Given the description of an element on the screen output the (x, y) to click on. 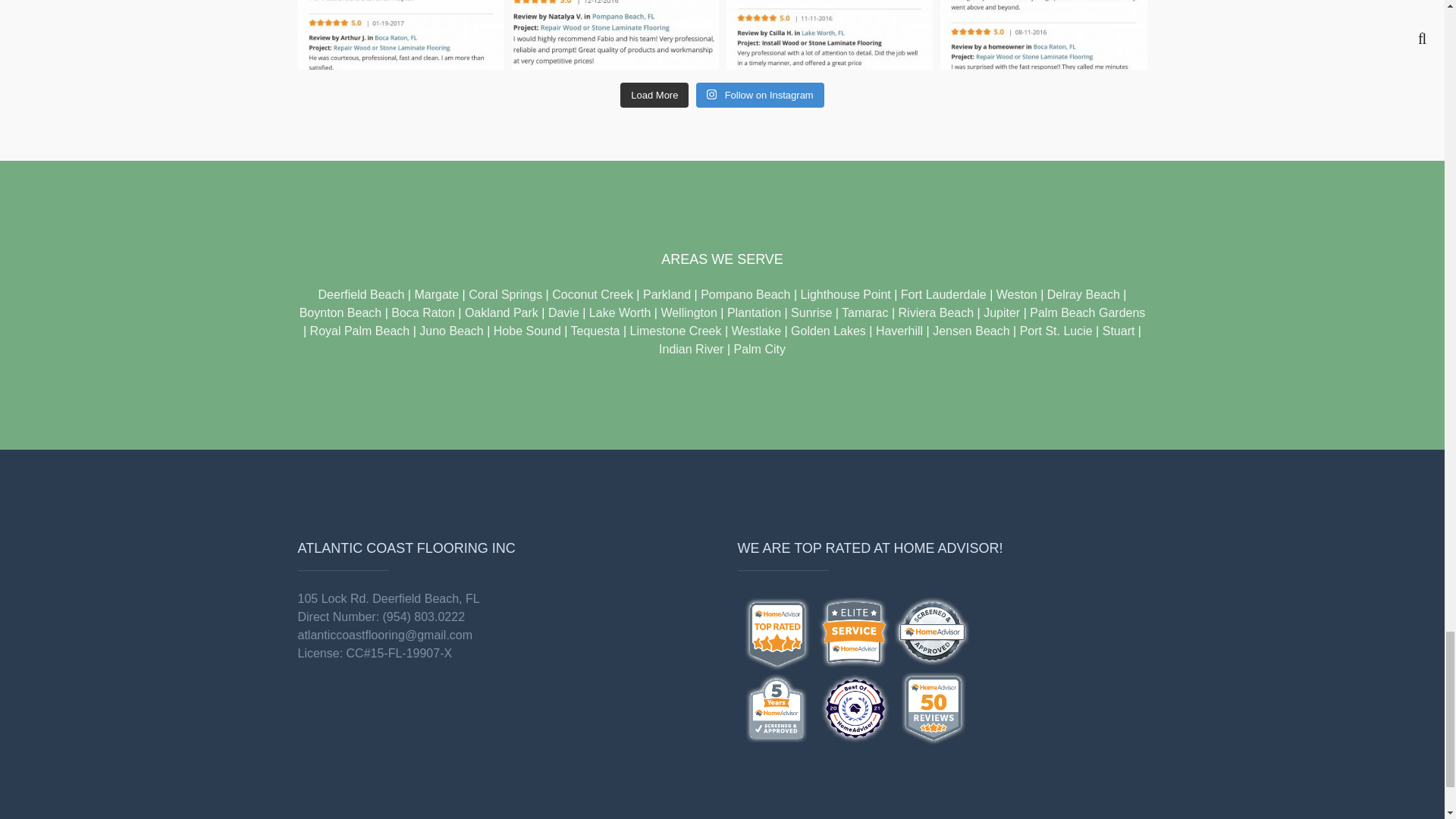
Parkland (666, 294)
Follow on Instagram (759, 94)
Fort Lauderdale (944, 294)
Delray Beach (1082, 294)
Coral Springs (504, 294)
Deerfield Beach (361, 294)
Weston (1015, 294)
Margate (435, 294)
Coconut Creek (592, 294)
Pompano Beach (745, 294)
